Given the description of an element on the screen output the (x, y) to click on. 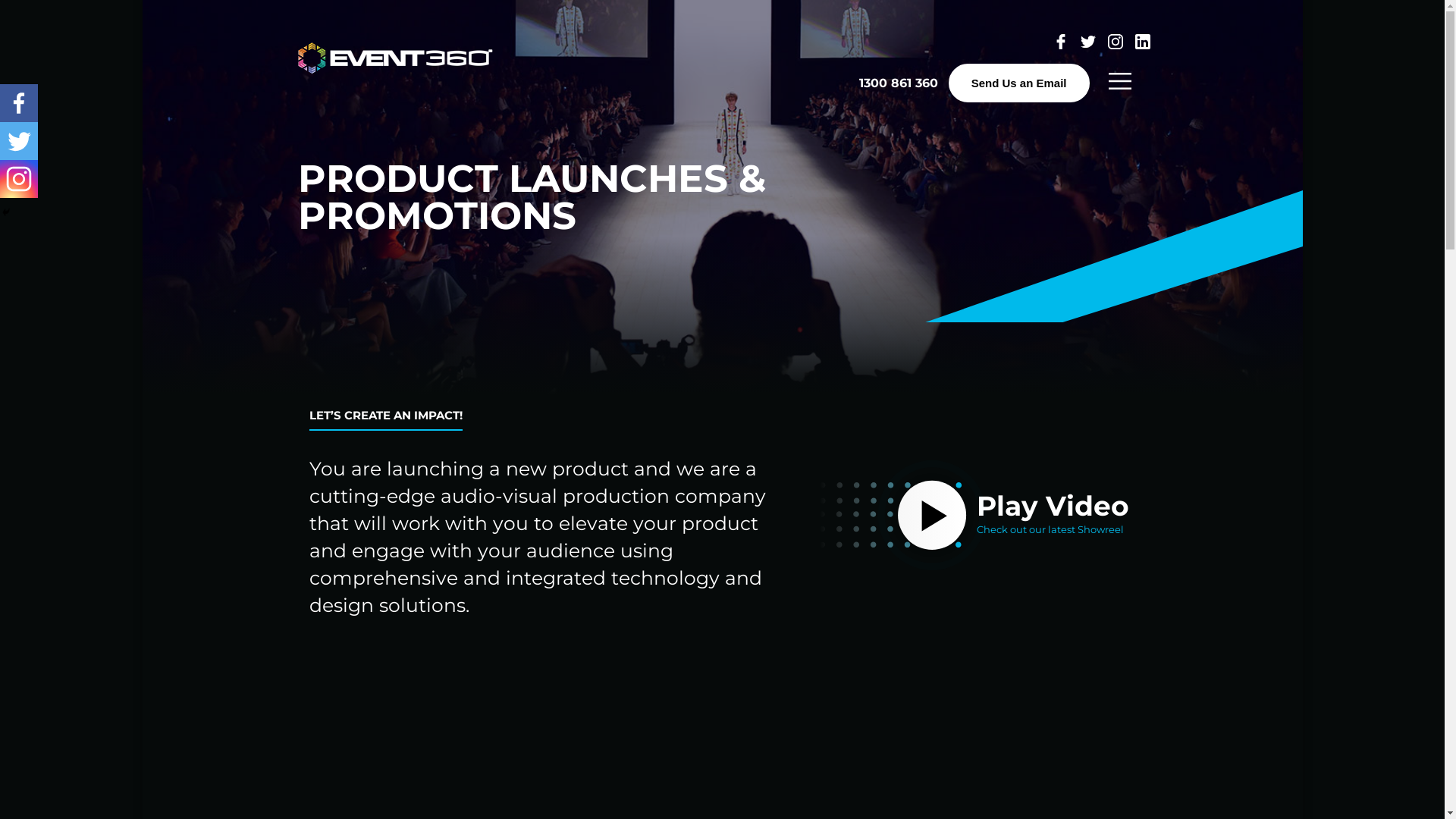
1300 861 360 Element type: text (898, 82)
Send Us an Email Element type: text (1018, 82)
Twitter Element type: hover (18, 141)
Hide Element type: hover (6, 212)
Instagram Element type: hover (18, 178)
Facebook Element type: hover (18, 103)
